Given the description of an element on the screen output the (x, y) to click on. 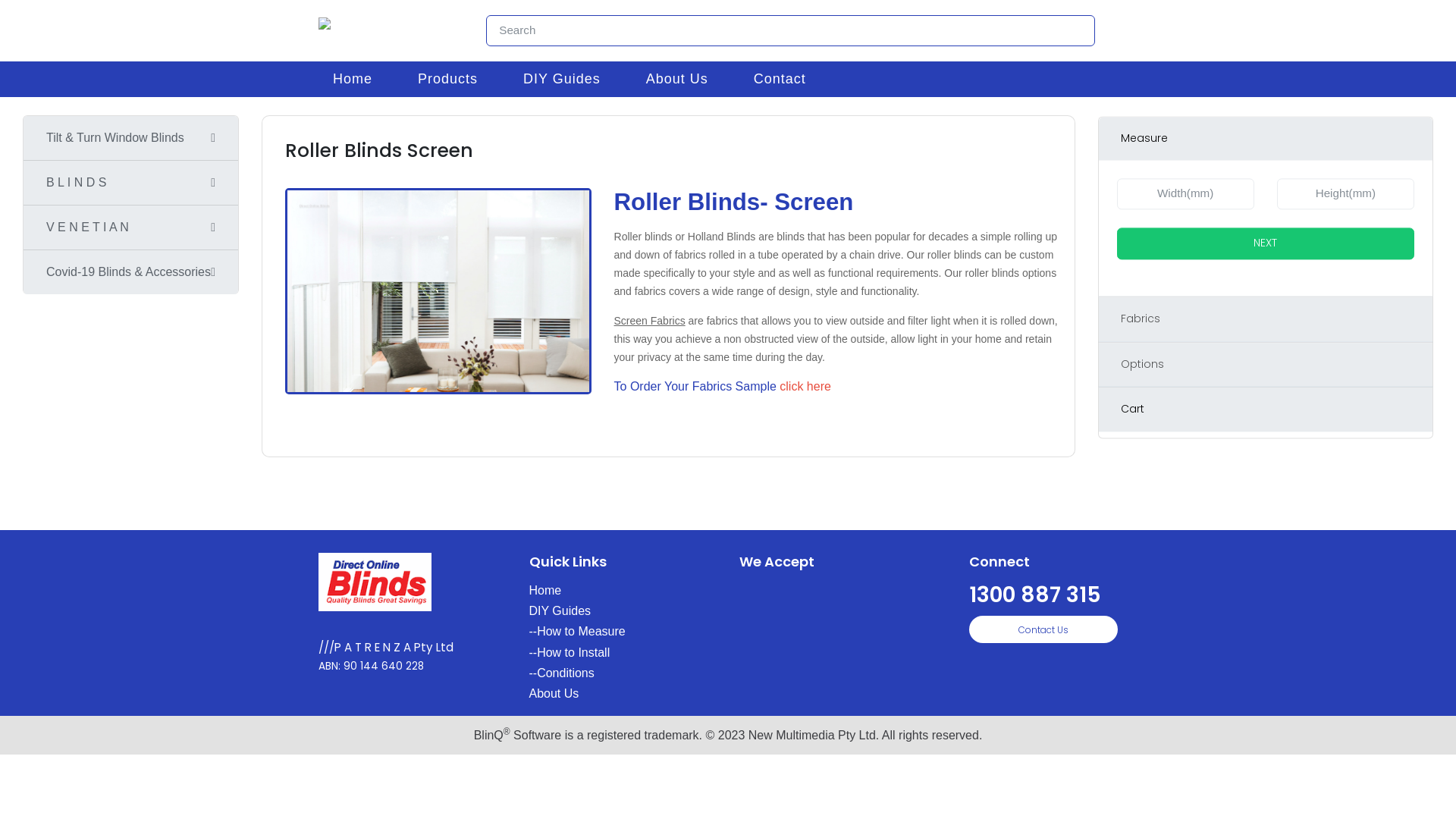
V E N E T I A N Element type: text (87, 226)
--How to Measure Element type: text (577, 630)
Home Element type: text (352, 79)
About Us Element type: text (677, 79)
DIY Guides Element type: text (560, 610)
Cart Element type: text (1265, 410)
Fabrics Element type: text (1265, 319)
Home Element type: text (545, 589)
  Element type: text (832, 385)
NEXT Element type: text (1265, 244)
Measure Element type: text (1265, 138)
--How to Install Element type: text (569, 652)
Tilt & Turn Window Blinds Element type: text (115, 137)
--Conditions Element type: text (561, 672)
Products Element type: text (447, 79)
About Us Element type: text (554, 693)
click here Element type: text (805, 385)
Contact Us Element type: text (1043, 629)
Contact Element type: text (779, 79)
B L I N D S Element type: text (76, 181)
Covid-19 Blinds & Accessories Element type: text (128, 271)
Options Element type: text (1265, 364)
DIY Guides Element type: text (561, 79)
